Given the description of an element on the screen output the (x, y) to click on. 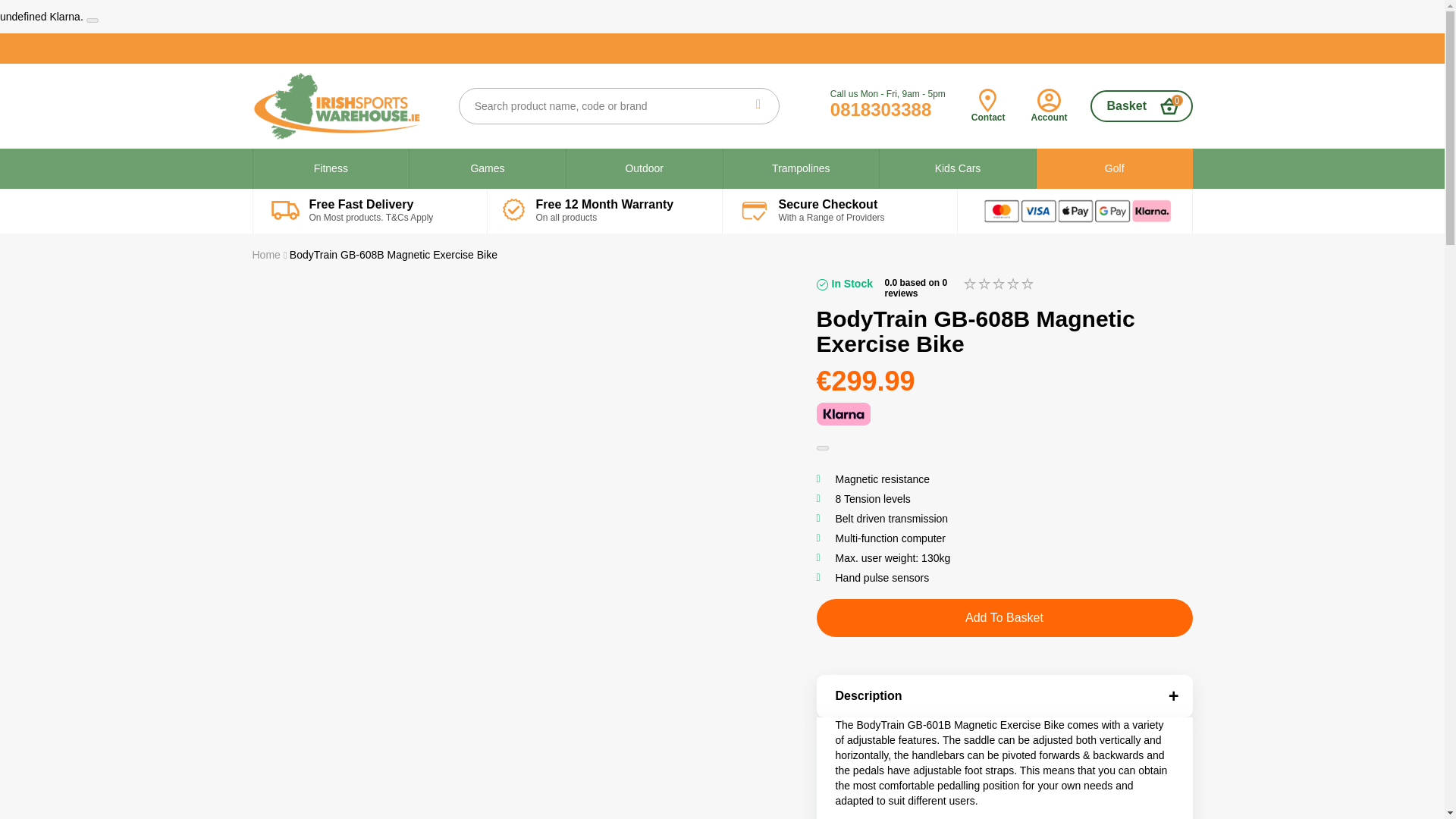
Irish Sports Warehouse (346, 105)
0818303388 (880, 109)
Account (1048, 105)
Search (759, 104)
Games (487, 168)
Contact (988, 105)
Search (759, 104)
Fitness (330, 168)
Fitness (330, 168)
